Given the description of an element on the screen output the (x, y) to click on. 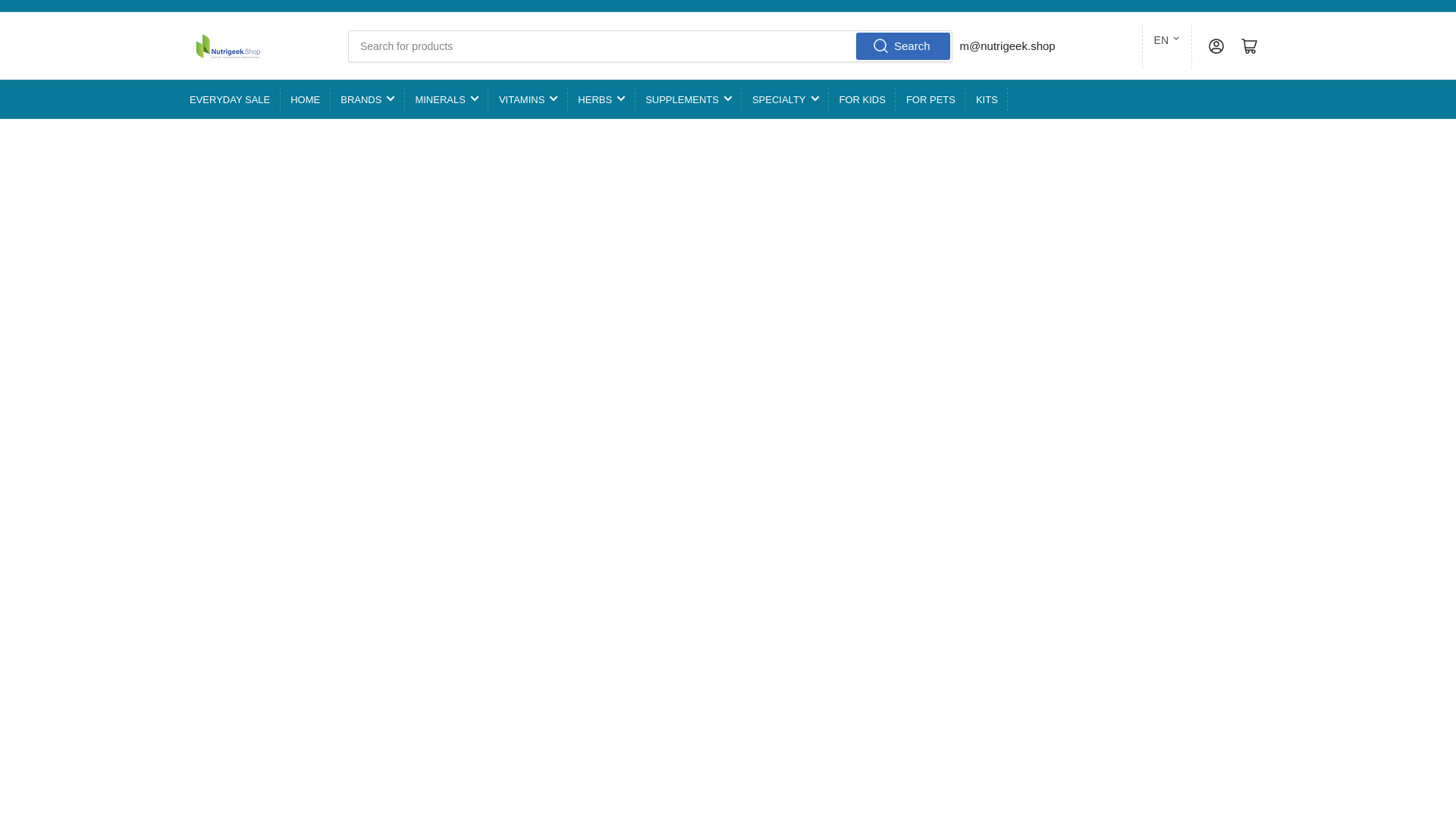
Log in (1216, 45)
Search (903, 45)
Open mini cart (1249, 45)
